Given the description of an element on the screen output the (x, y) to click on. 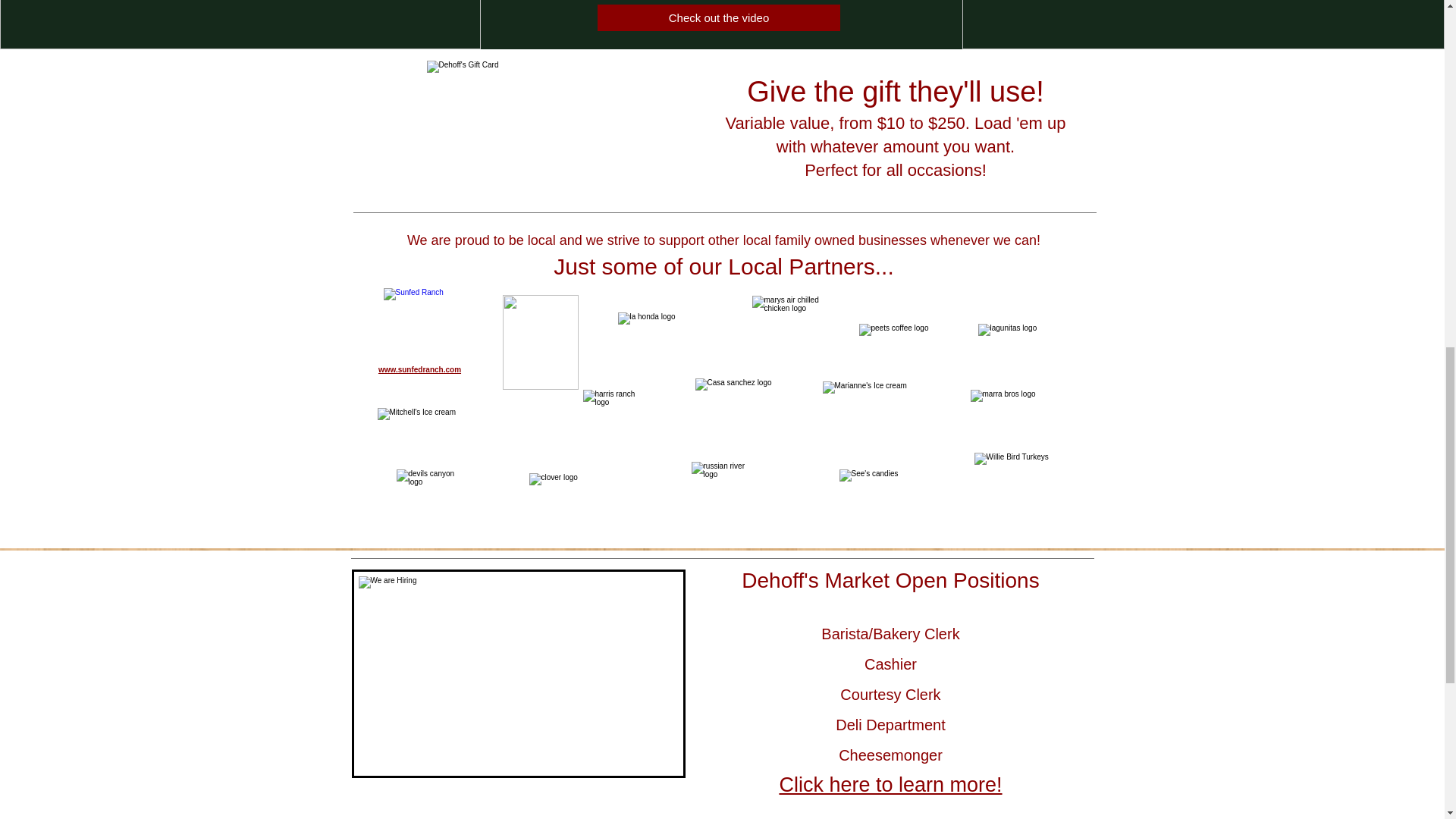
www.sunfedranch.com (419, 369)
Check out the video (718, 17)
Click here to learn more! (889, 784)
